Given the description of an element on the screen output the (x, y) to click on. 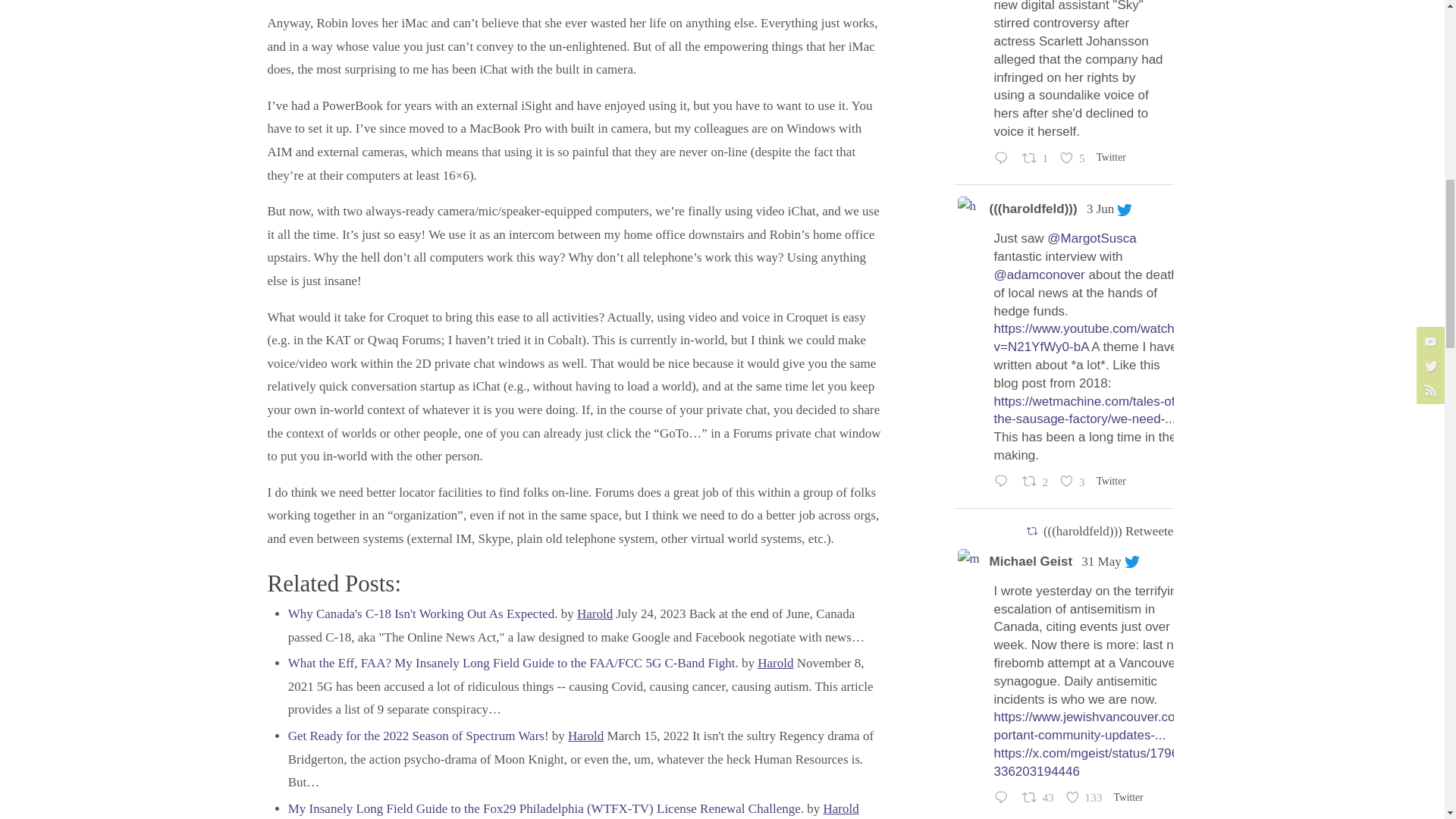
Get Ready for the 2022 Season of Spectrum Wars! (418, 735)
Harold (585, 735)
Why Canada's C-18 Isn't Working Out As Expected. (422, 613)
Harold (841, 808)
Harold (775, 663)
Harold (594, 613)
